Given the description of an element on the screen output the (x, y) to click on. 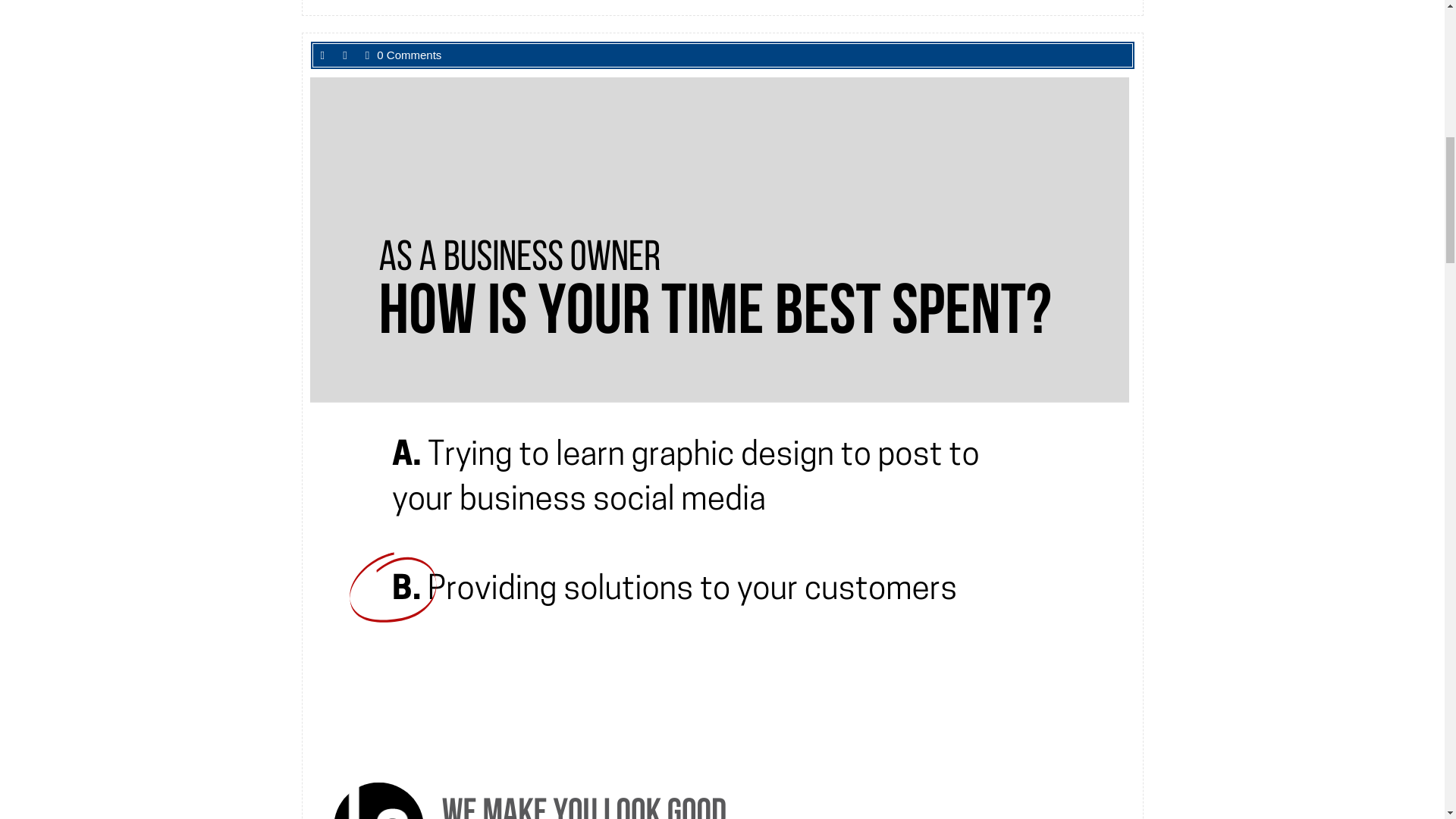
TOP (1397, 73)
